Given the description of an element on the screen output the (x, y) to click on. 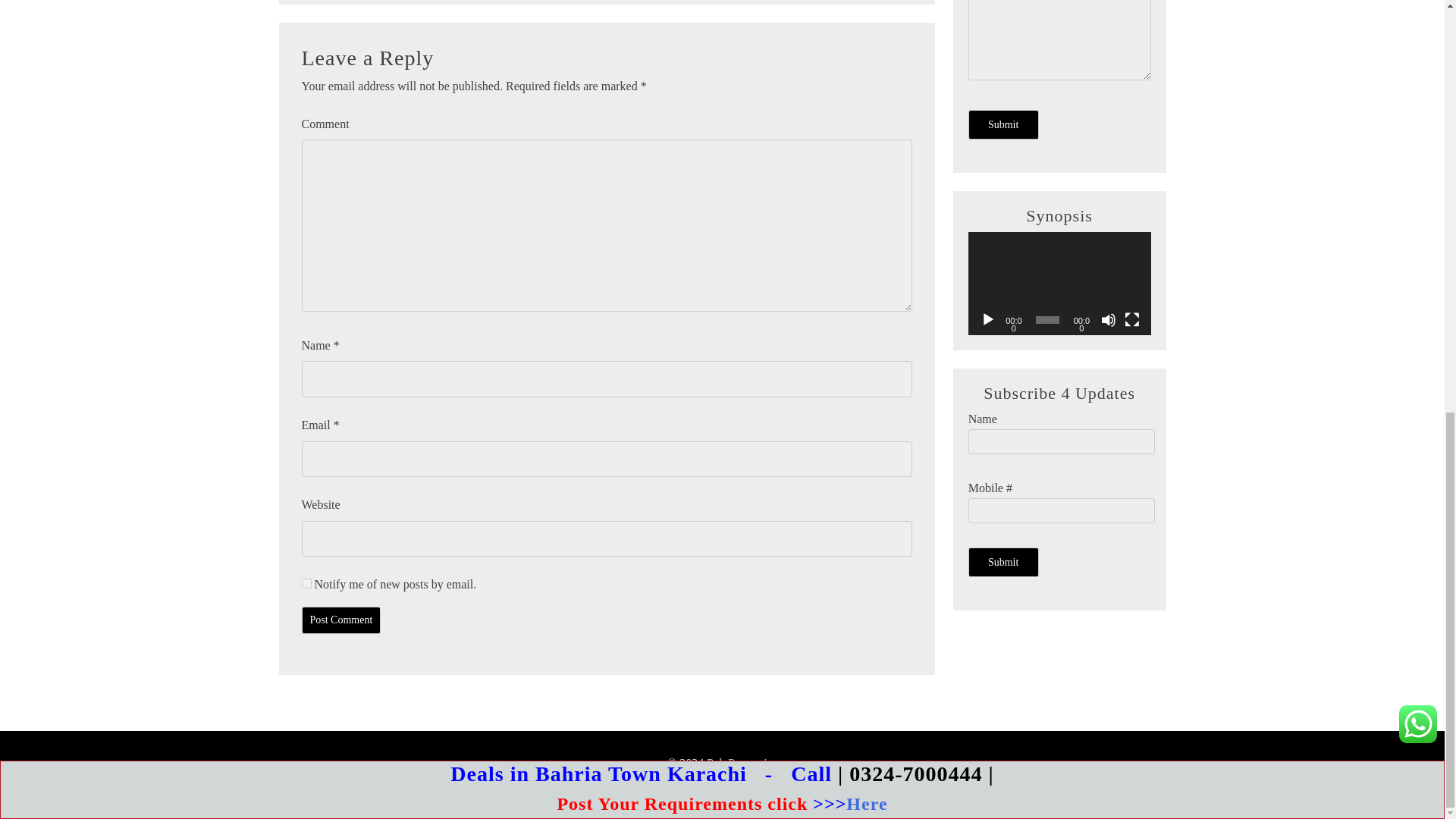
Play (987, 319)
Post Comment (341, 619)
Submit (1003, 561)
Fullscreen (1132, 319)
Mute (1108, 319)
Post Comment (341, 619)
Pak Properties (741, 763)
Submit (1003, 123)
Submit (1003, 123)
subscribe (306, 583)
Submit (1003, 561)
